Given the description of an element on the screen output the (x, y) to click on. 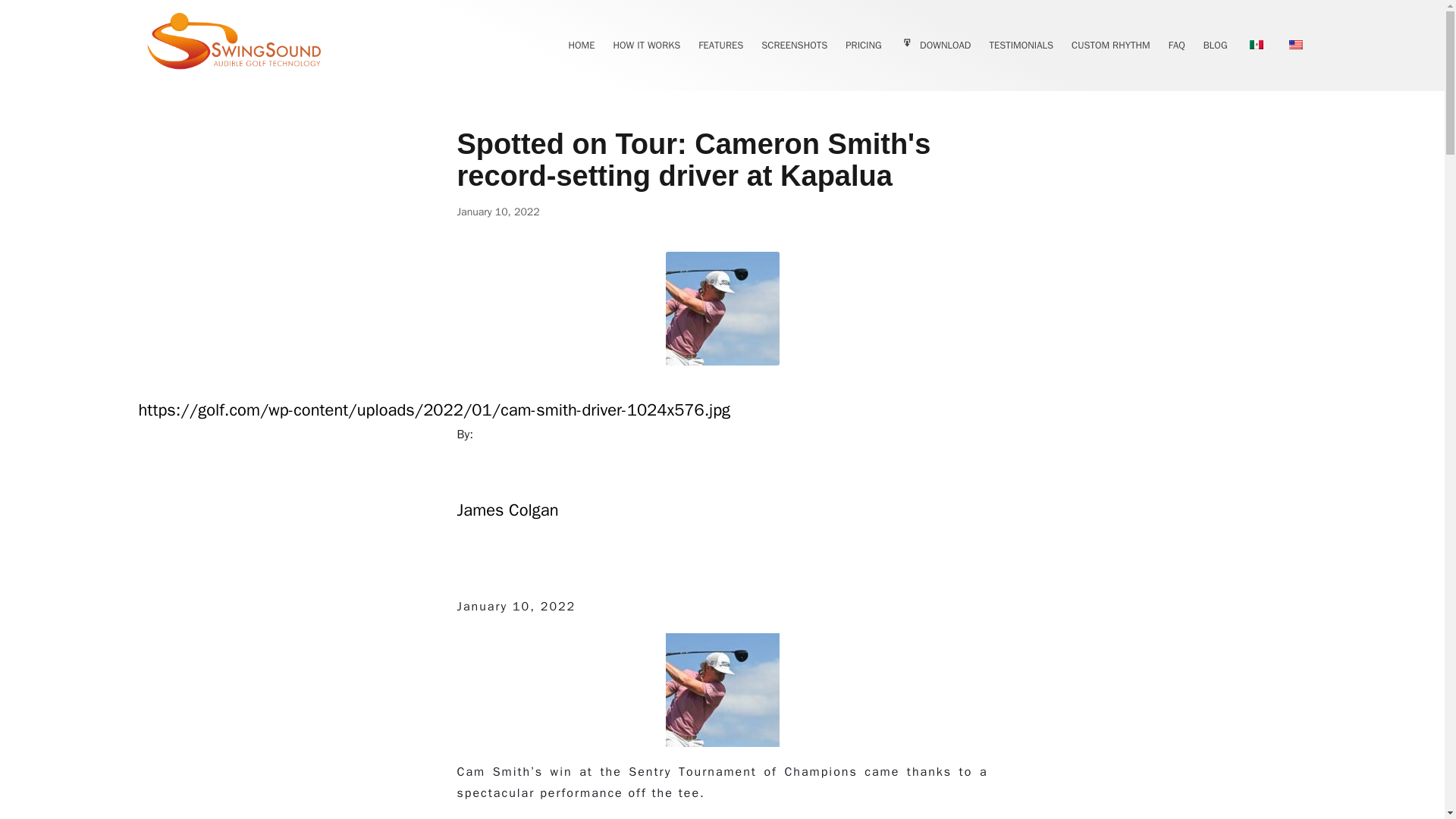
PRICING (862, 45)
TESTIMONIALS (1020, 45)
James Colgan (507, 523)
HOW IT WORKS (645, 45)
SCREENSHOTS (794, 45)
English (1295, 44)
FAQ (1177, 45)
BLOG (1215, 45)
FEATURES (720, 45)
Spanish (1256, 44)
CUSTOM RHYTHM (1110, 45)
DOWNLOAD (935, 45)
HOME (580, 45)
